Given the description of an element on the screen output the (x, y) to click on. 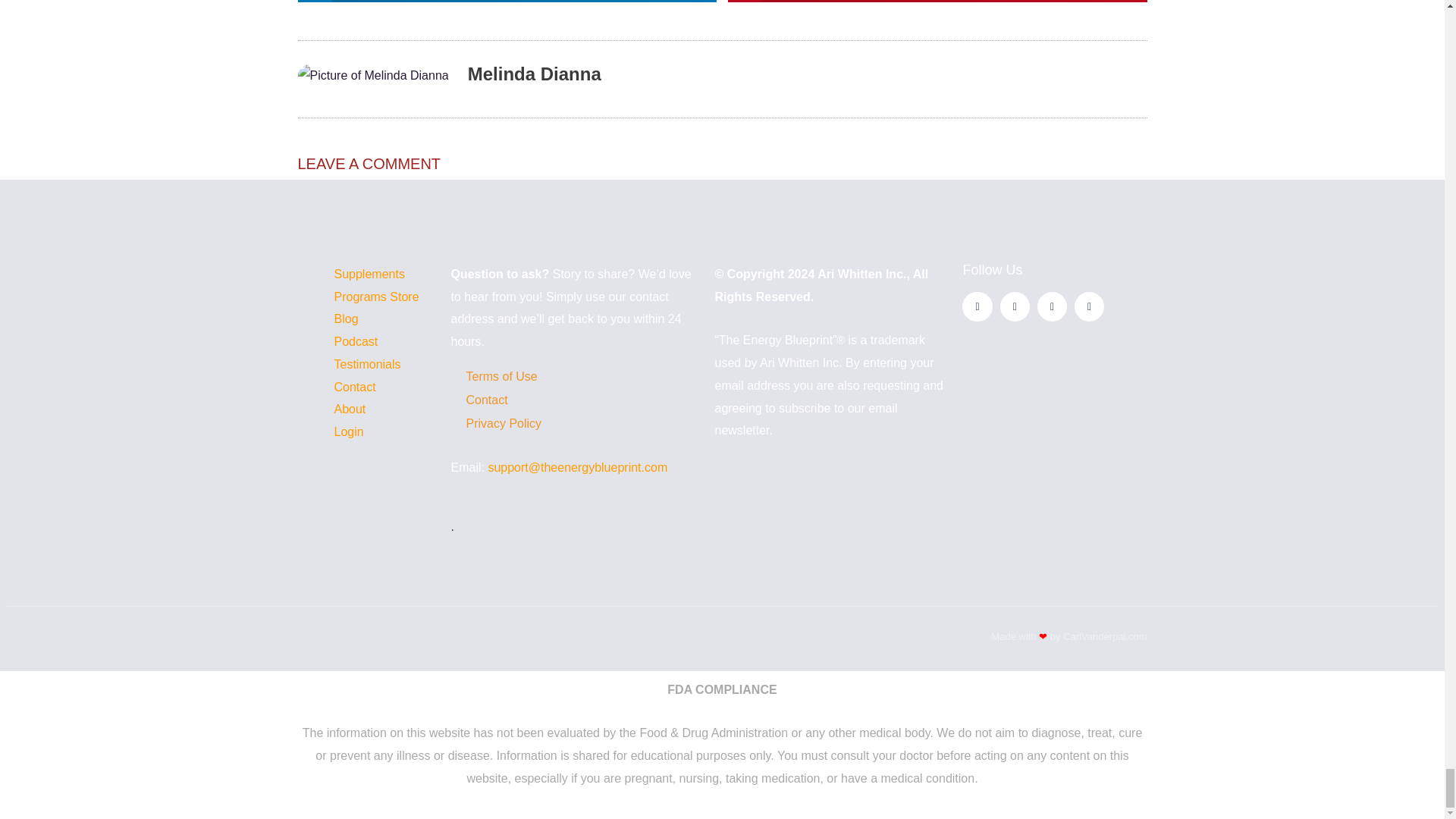
Login (347, 431)
Terms of Use (573, 376)
Blog (345, 318)
Podcast (355, 341)
Contact (573, 400)
Privacy Policy (573, 423)
Supplements (368, 273)
About (349, 408)
Contact (354, 386)
Testimonials (366, 364)
